Given the description of an element on the screen output the (x, y) to click on. 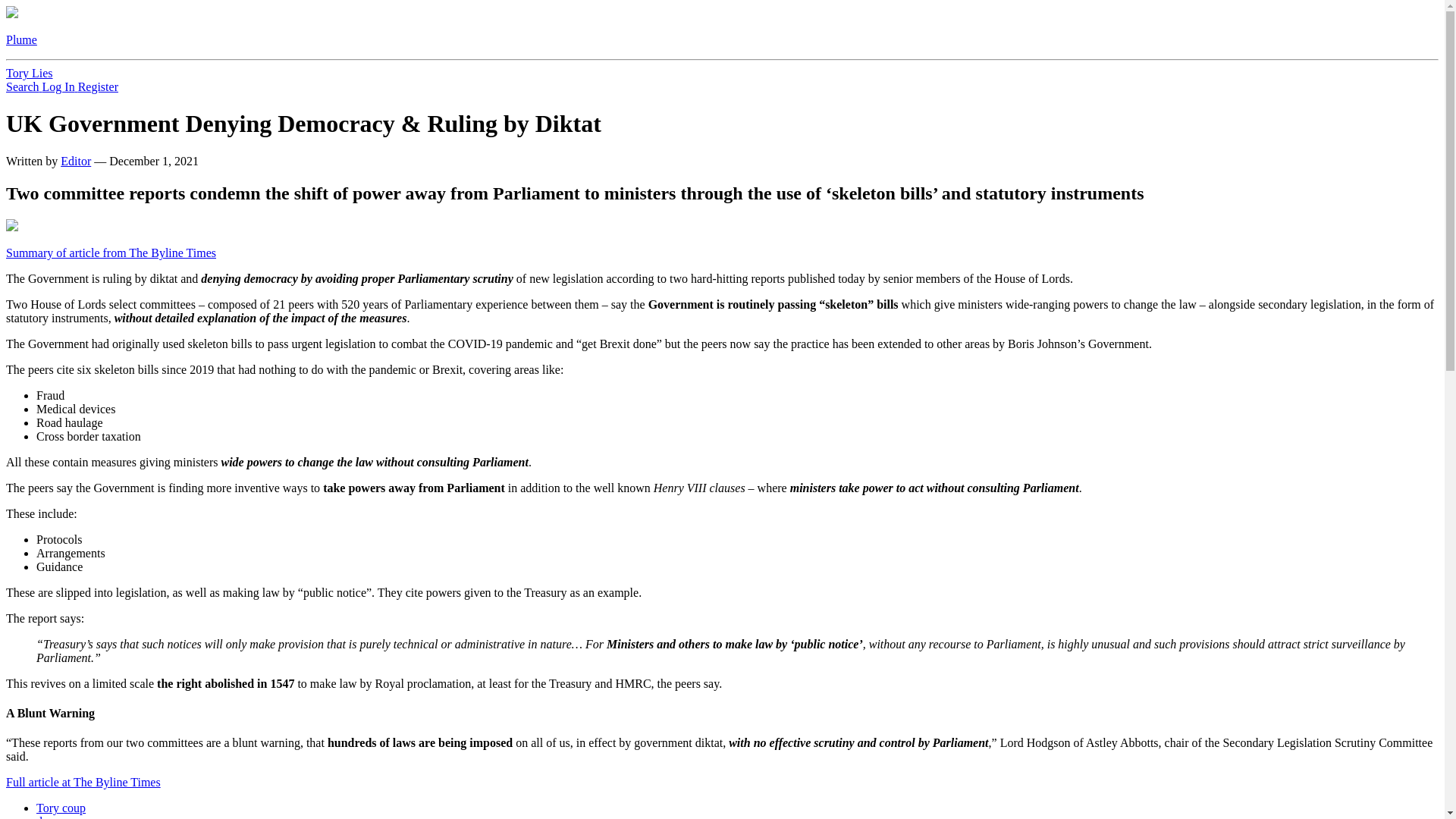
Tory coup (60, 807)
Summary of article from The Byline Times (110, 252)
Register (97, 86)
Search (23, 86)
Full article at The Byline Times (82, 781)
Tory Lies (28, 72)
democracy (62, 816)
Editor (75, 160)
Log In (60, 86)
